Given the description of an element on the screen output the (x, y) to click on. 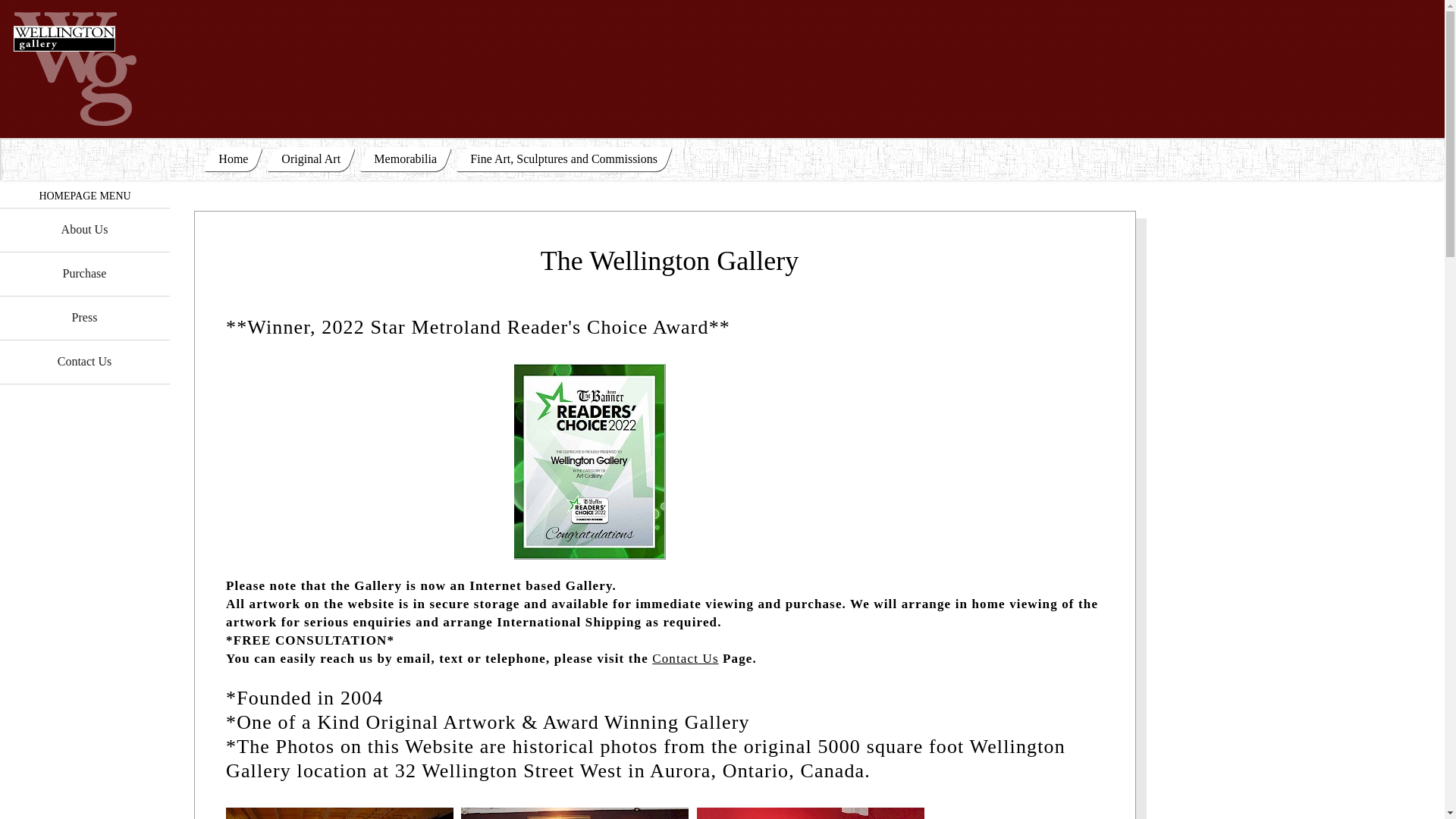
Press (85, 317)
Memorabilia (404, 158)
Contact Us (684, 658)
About Us (85, 229)
Home (233, 158)
Contact Us (85, 362)
Purchase (85, 273)
Fine Art, Sculptures and Commissions (564, 158)
Original Art (310, 158)
